Given the description of an element on the screen output the (x, y) to click on. 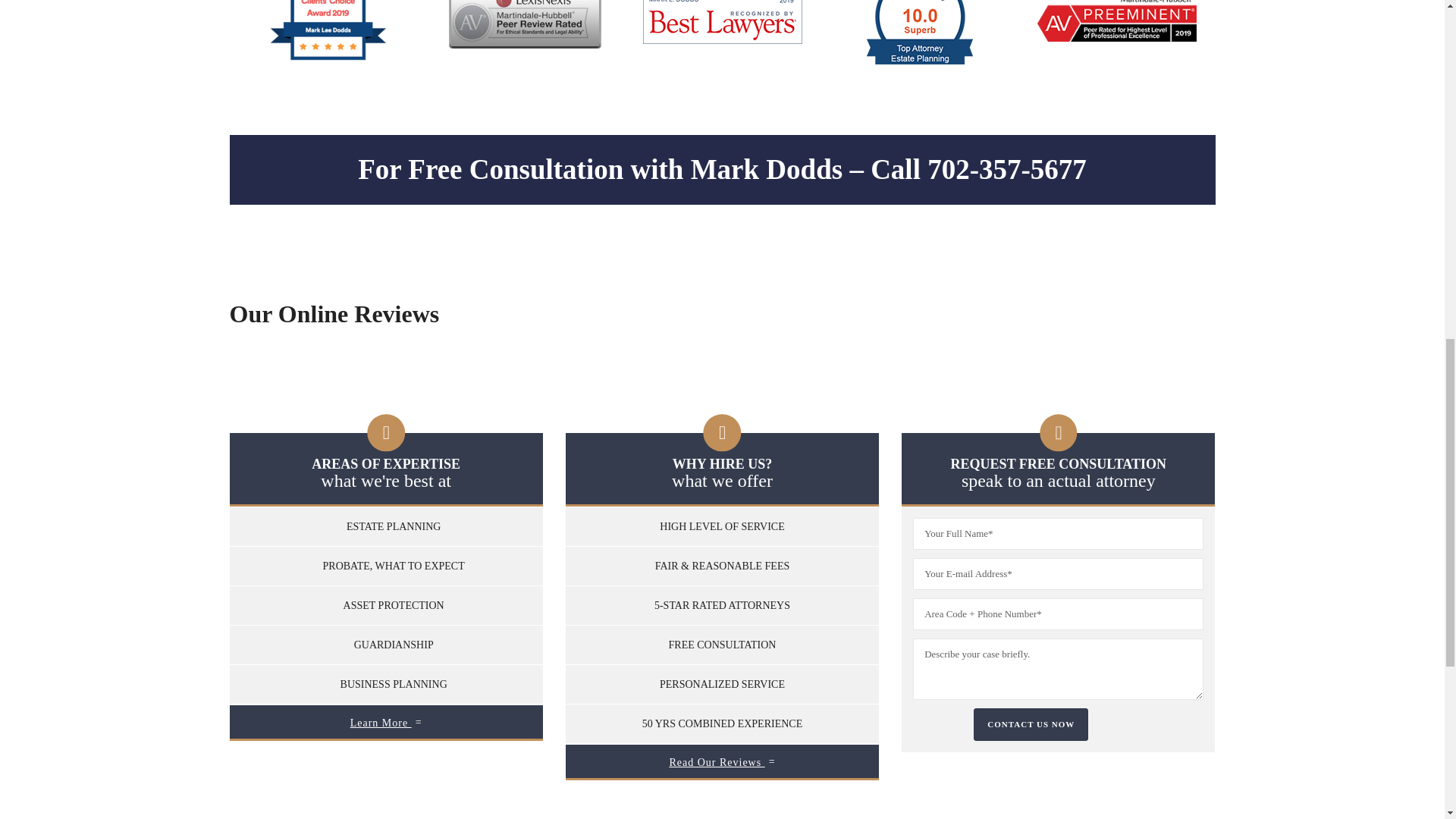
Contact us now (1030, 724)
